Given the description of an element on the screen output the (x, y) to click on. 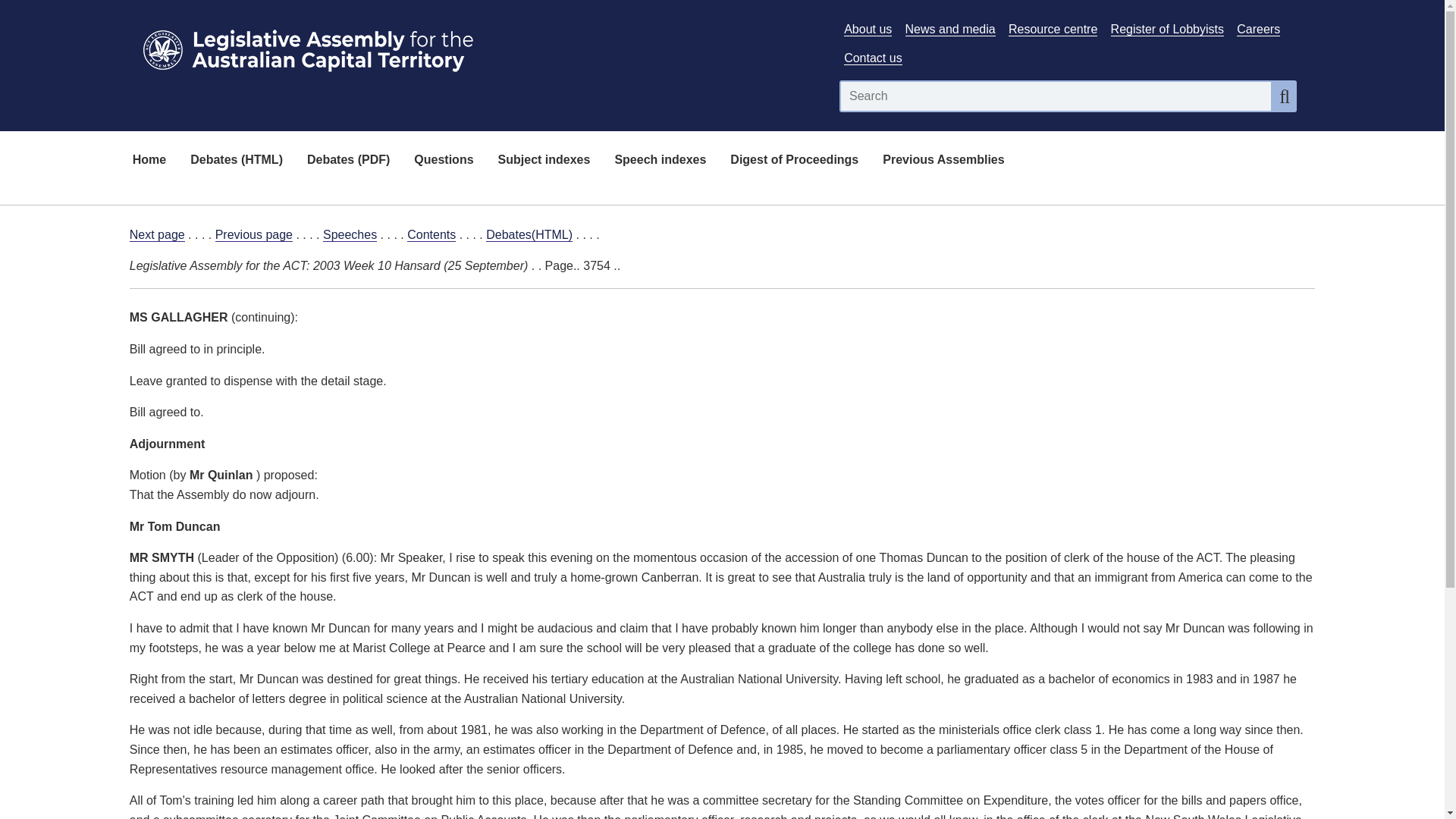
Subject indexes (544, 160)
Search input field (1056, 96)
Link to Contact Us (872, 58)
Link to Careers (1257, 29)
Previous page (253, 234)
Home (148, 160)
Speech indexes (659, 160)
Contents (431, 234)
News and media (950, 29)
Link to Register of Lobbyists (1167, 29)
Careers (1257, 29)
Link to Homepage (475, 46)
Resource centre (1053, 29)
Contact us (872, 58)
Link to News and media (950, 29)
